Given the description of an element on the screen output the (x, y) to click on. 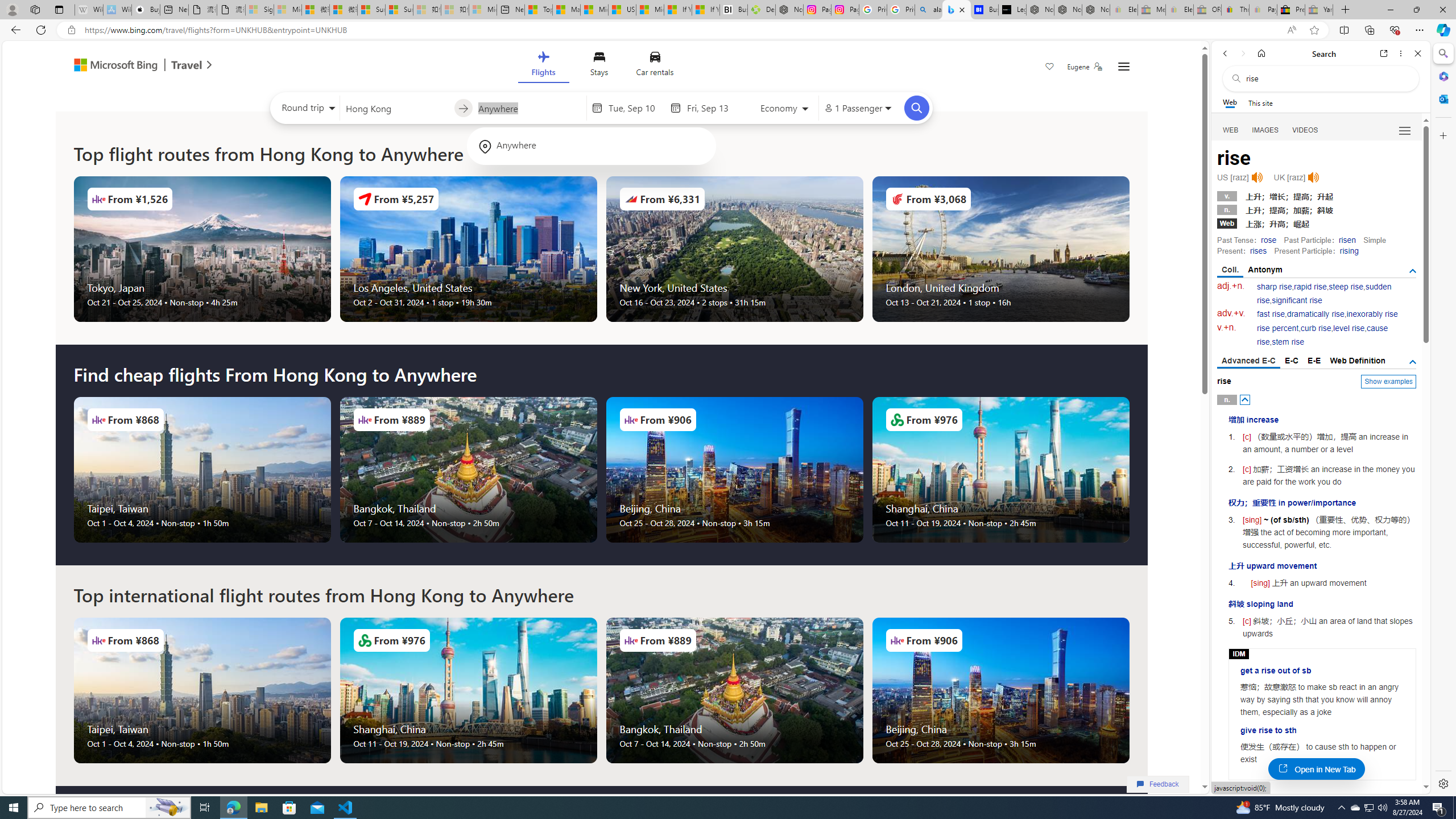
Select trip type (305, 110)
1 Passenger (857, 108)
Microsoft account | Account Checkup - Sleeping (483, 9)
Threats and offensive language policy | eBay (1235, 9)
stem rise (1287, 341)
Microsoft Bing Travel (130, 65)
level rise (1349, 328)
